Given the description of an element on the screen output the (x, y) to click on. 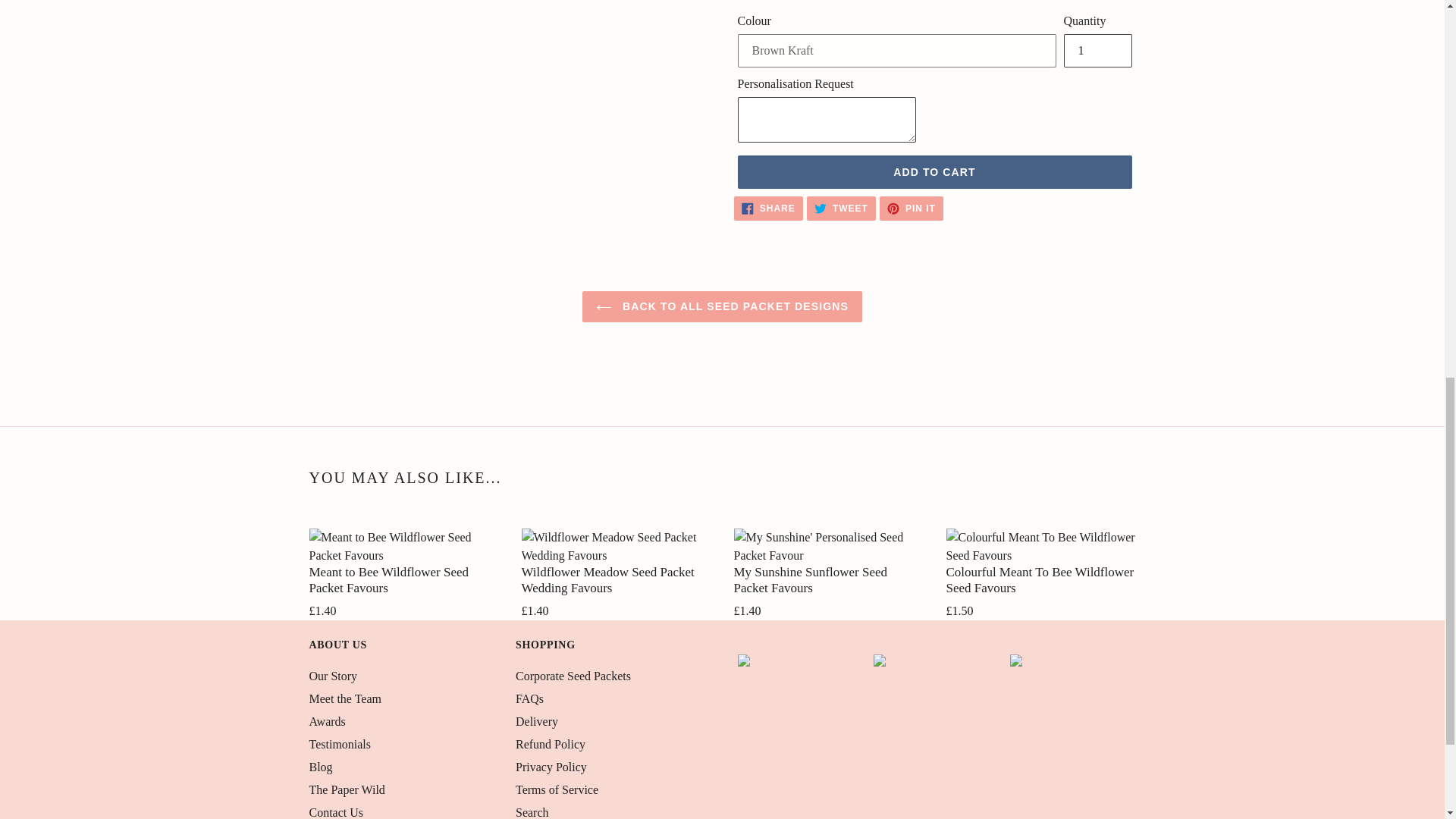
Meet the Team (344, 698)
Contact Us (336, 812)
The Paper Wild (346, 789)
BACK TO ALL SEED PACKET DESIGNS (841, 208)
1 (721, 306)
Awards (1096, 50)
Our Story (327, 721)
Blog (911, 208)
